Given the description of an element on the screen output the (x, y) to click on. 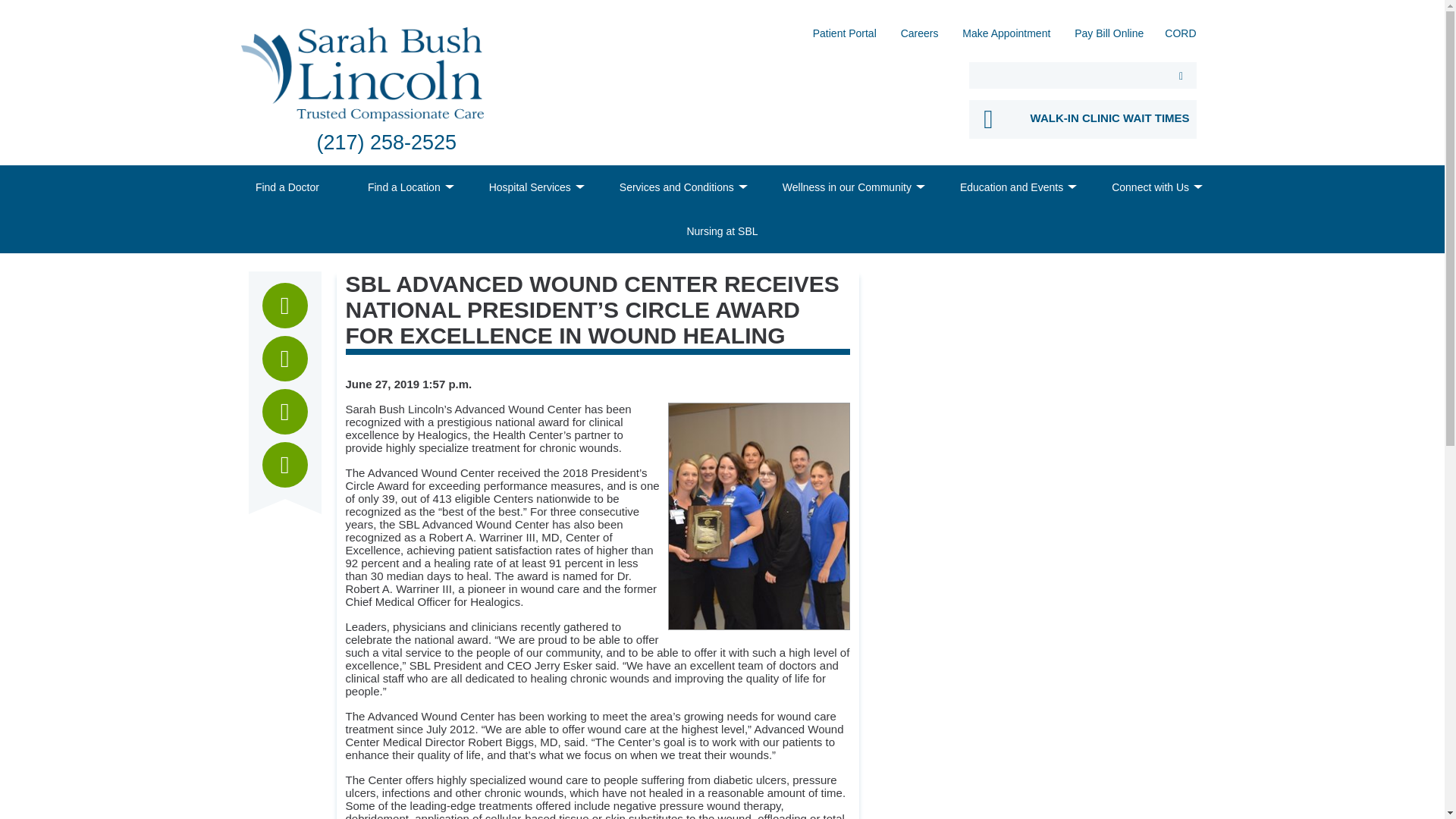
SUBMIT (1181, 75)
Find a Location (403, 187)
Search (1181, 75)
WALK-IN CLINIC WAIT TIMES (1082, 118)
Hospital Services (529, 187)
Skip to Content (5, 4)
CORD (1179, 38)
Careers (920, 38)
Find a Doctor (287, 187)
Pay Bill Online (1108, 38)
Make Appointment (1005, 38)
Patient Portal (844, 38)
